Given the description of an element on the screen output the (x, y) to click on. 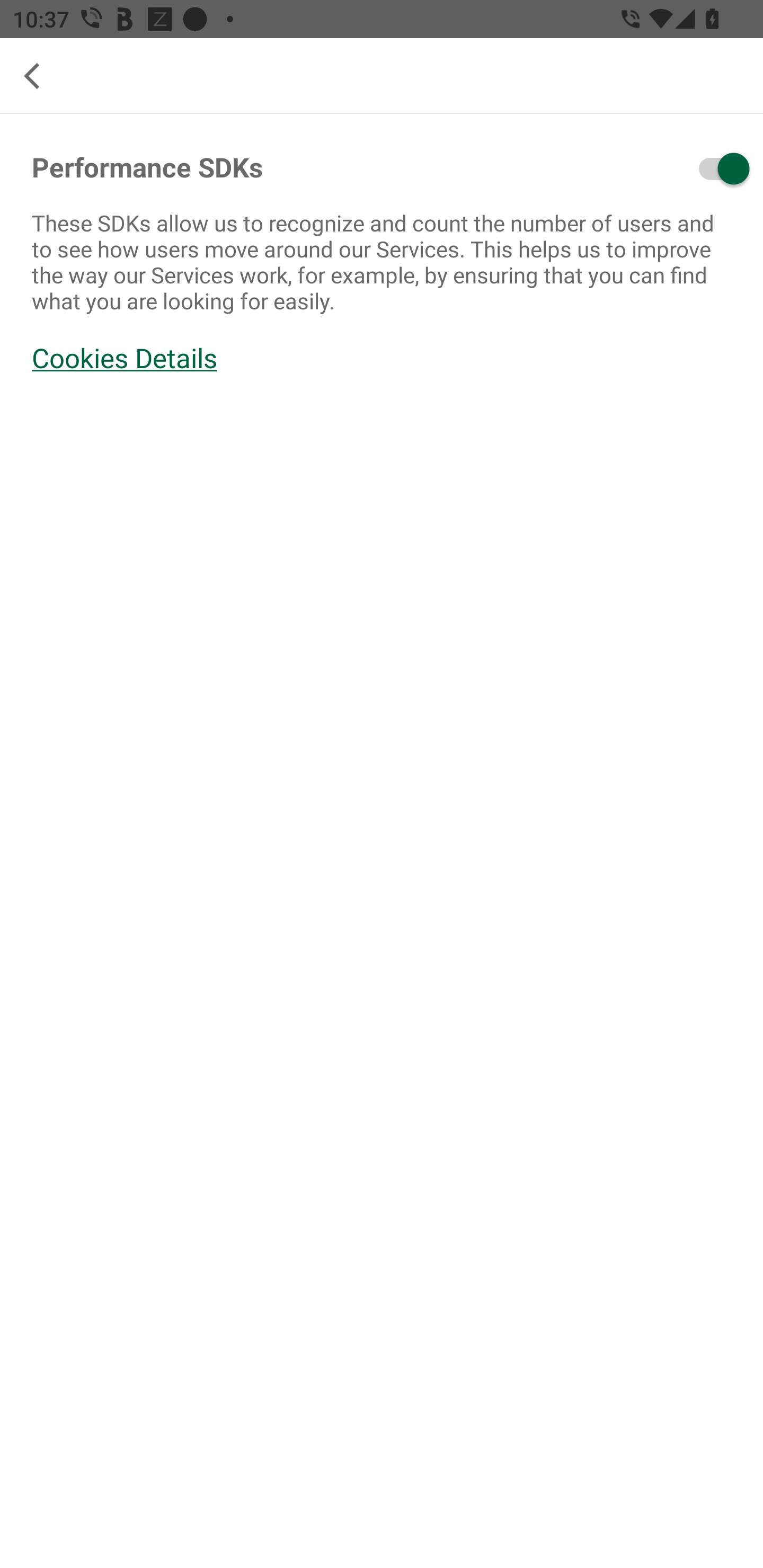
Back (39, 75)
Consent (671, 168)
Cookies Details (381, 358)
